Given the description of an element on the screen output the (x, y) to click on. 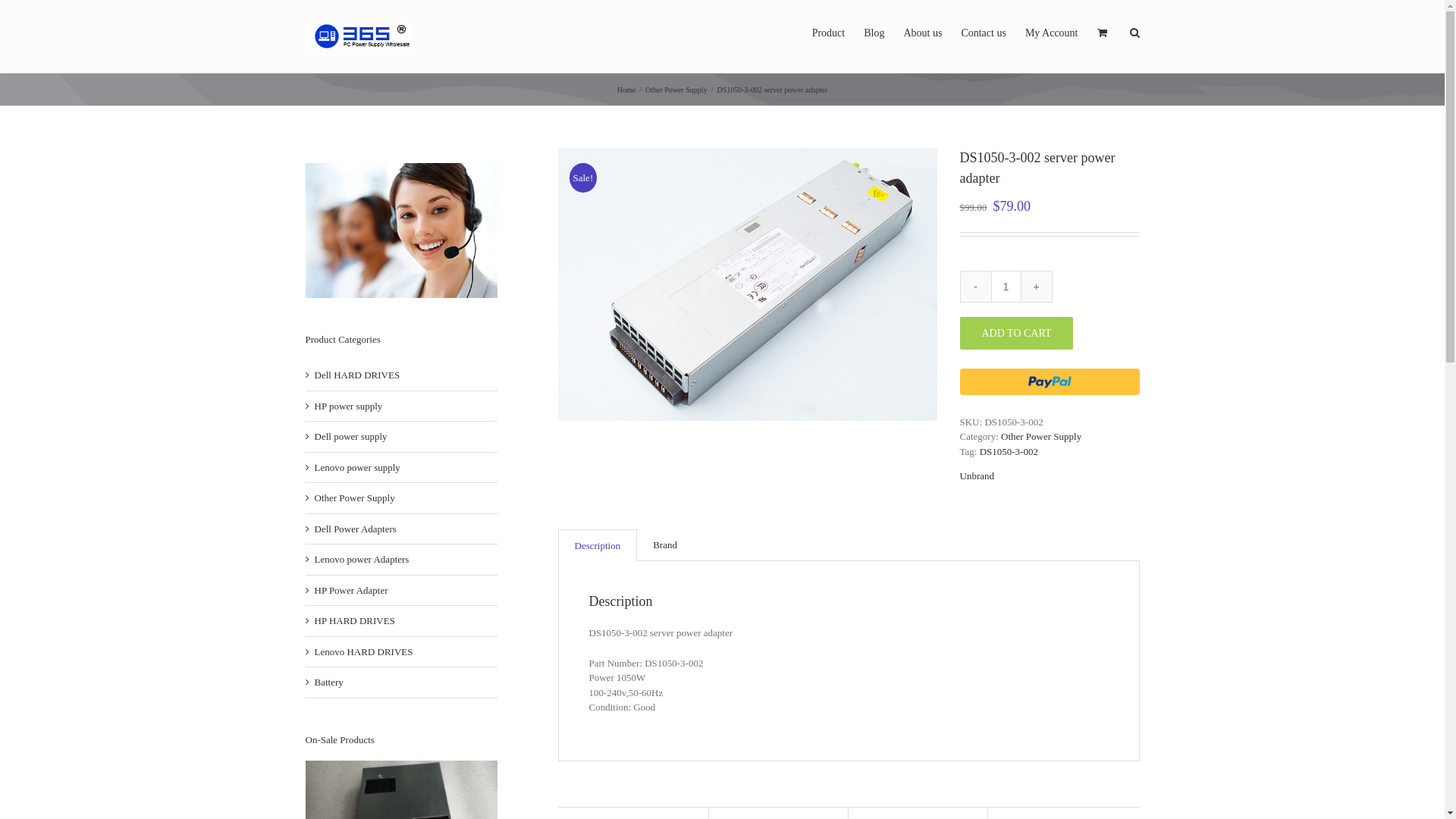
Blog Element type: text (873, 31)
Lenovo HARD DRIVES Element type: text (362, 651)
PayPal Element type: hover (1049, 381)
Dell HARD DRIVES Element type: text (356, 374)
Unbrand Element type: text (977, 475)
DS1050-3-002 Element type: hover (747, 283)
Dell power supply Element type: text (349, 436)
DS1050-3-002 Element type: text (1008, 451)
Other Power Supply Element type: text (1041, 436)
Log In Element type: text (1120, 175)
HP HARD DRIVES Element type: text (353, 620)
HP Power Adapter Element type: text (350, 590)
Home Element type: text (626, 88)
Lenovo power supply Element type: text (356, 467)
Description Element type: text (597, 545)
HP power supply Element type: text (347, 406)
Lenovo power Adapters Element type: text (360, 559)
About us Element type: text (922, 31)
Brand Element type: text (665, 545)
Dell Power Adapters Element type: text (354, 528)
Product Element type: text (828, 31)
Other Power Supply Element type: text (353, 497)
ADD TO CART Element type: text (1016, 332)
My Account Element type: text (1051, 31)
Other Power Supply Element type: text (676, 88)
Contact us Element type: text (983, 31)
Battery Element type: text (327, 682)
